Given the description of an element on the screen output the (x, y) to click on. 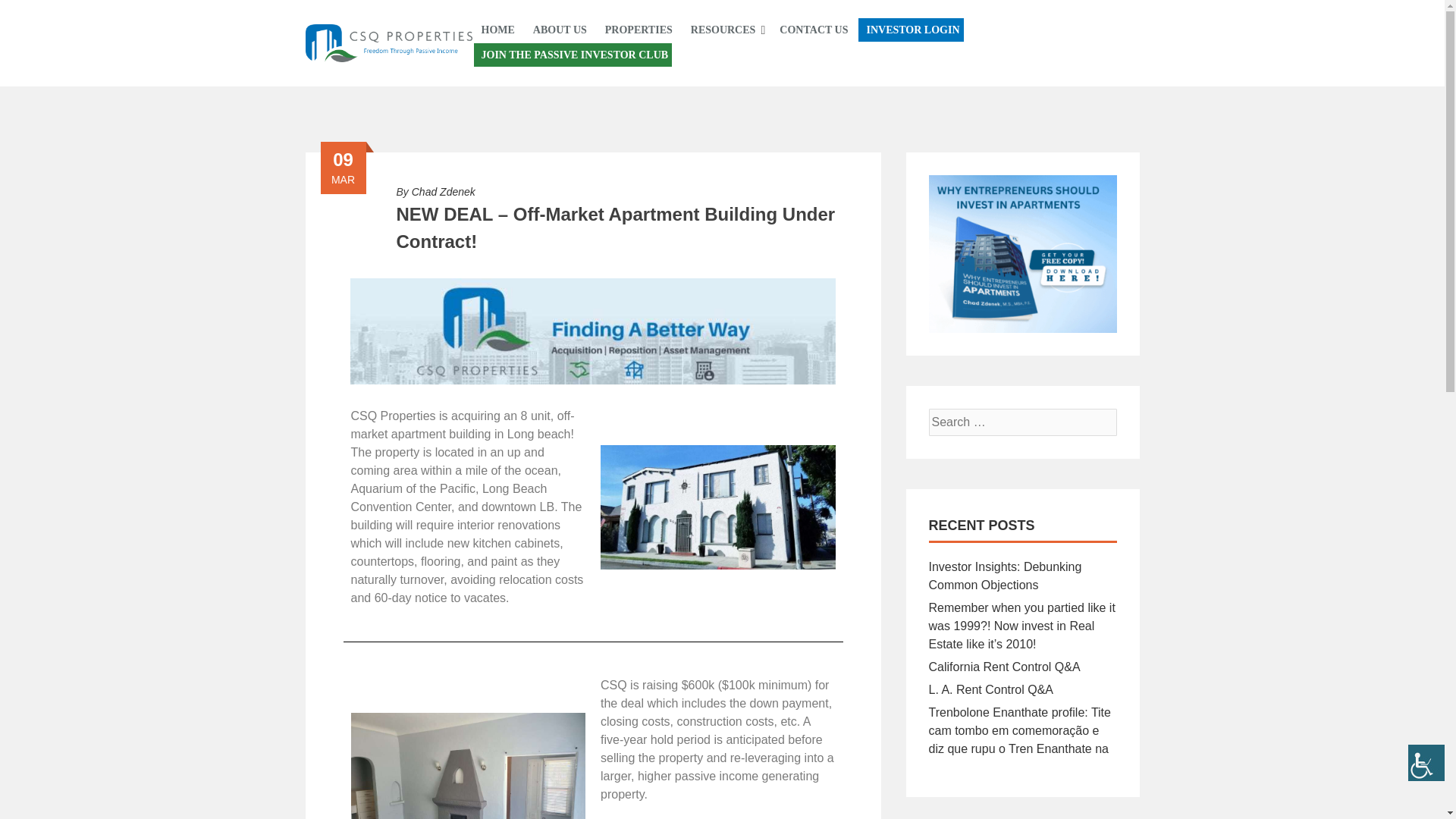
INVESTOR LOGIN (910, 30)
Chad Zdenek (444, 191)
JOIN THE PASSIVE INVESTOR CLUB (572, 55)
PROPERTIES (637, 30)
CONTACT US (813, 30)
ABOUT US (559, 30)
HOME (497, 30)
RESOURCES (722, 30)
